Given the description of an element on the screen output the (x, y) to click on. 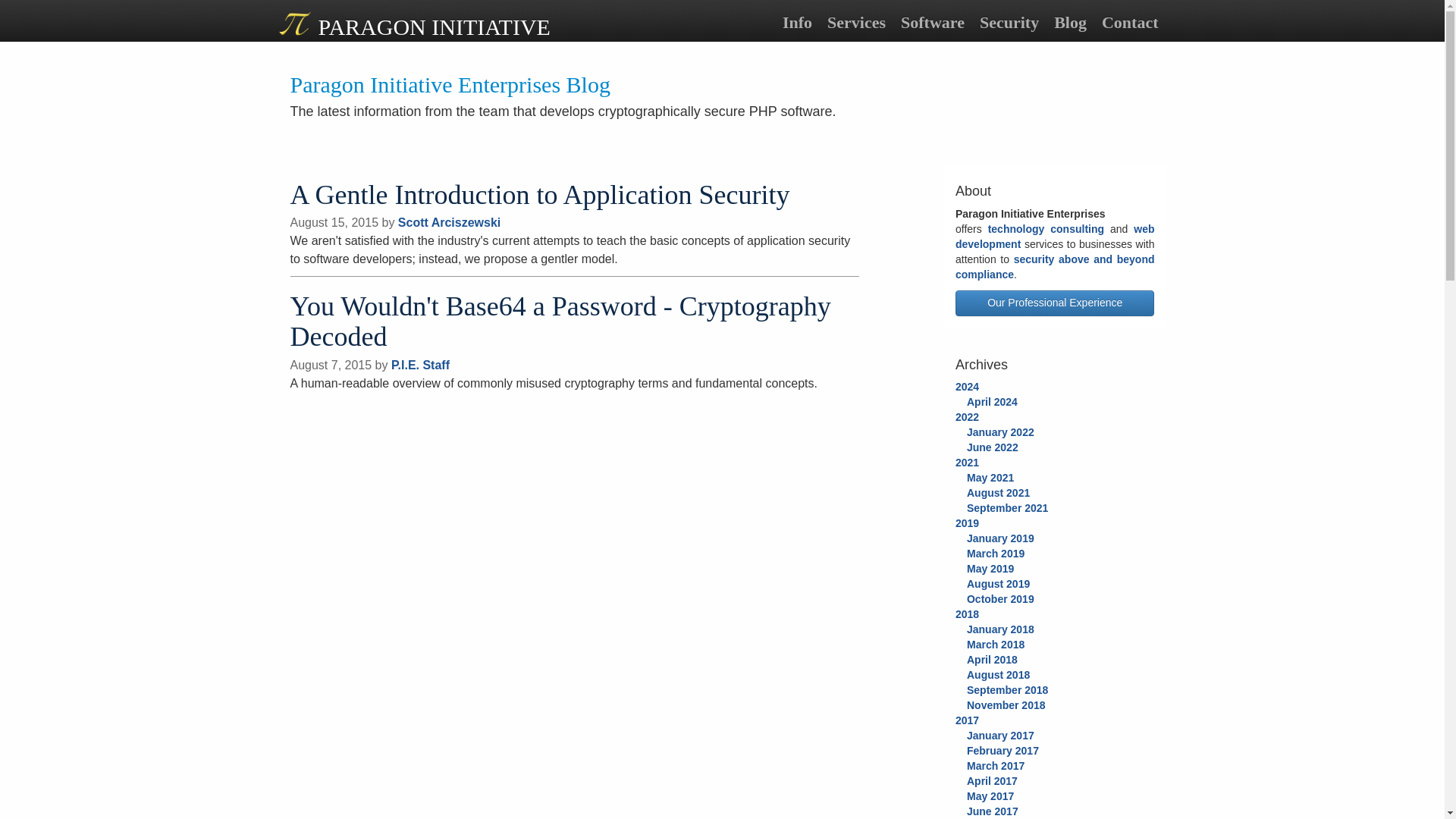
2019 (966, 522)
August 2021 (997, 492)
April 2024 (991, 401)
web development (1054, 236)
Security (1009, 22)
Info (796, 22)
Contact (1130, 22)
May 2021 (989, 477)
Blog (1070, 22)
September 2021 (1007, 508)
